Given the description of an element on the screen output the (x, y) to click on. 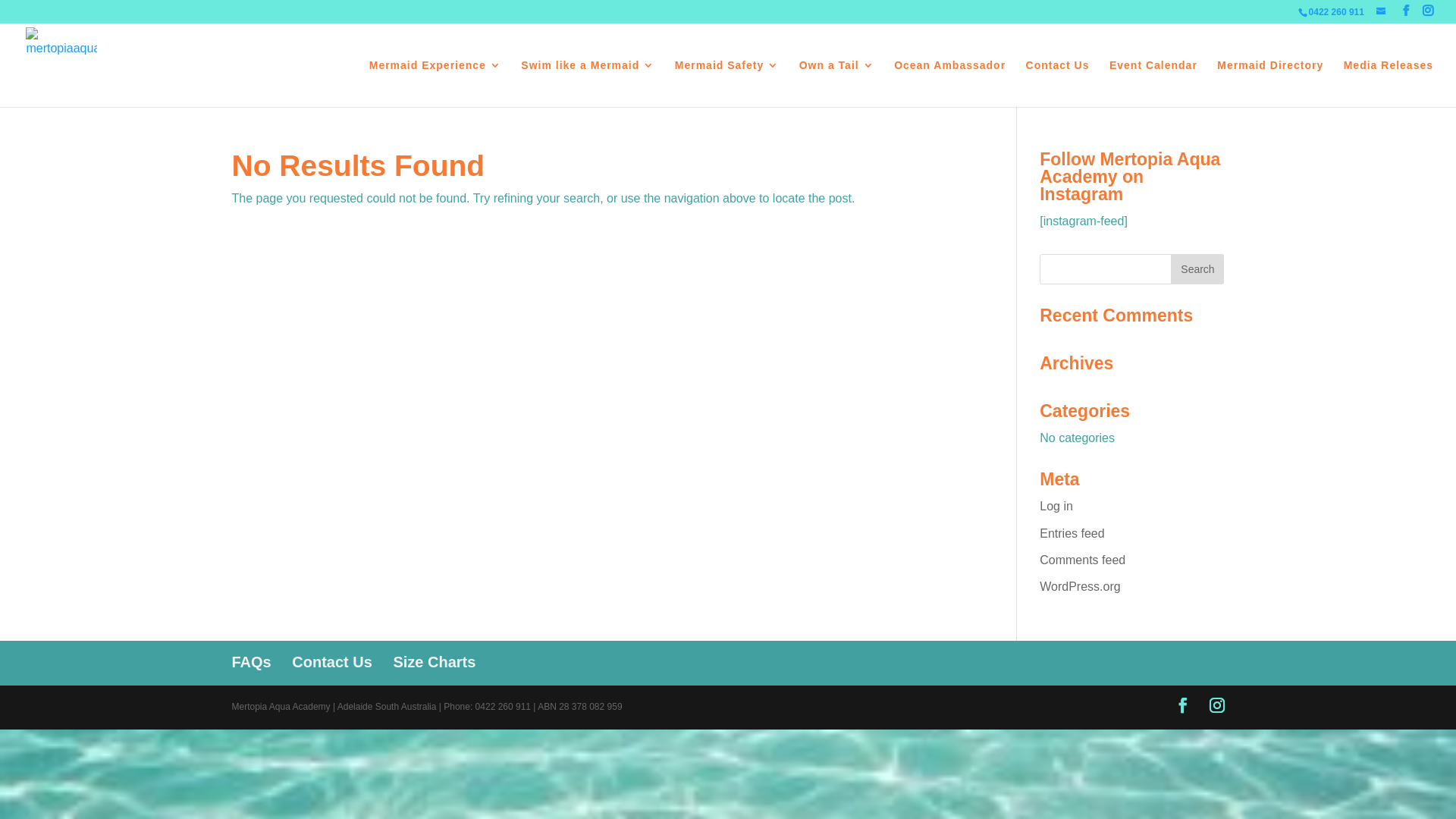
Event Calendar Element type: text (1153, 82)
Log in Element type: text (1056, 505)
Own a Tail Element type: text (836, 82)
Media Releases Element type: text (1388, 82)
Contact Us Element type: text (1057, 82)
Ocean Ambassador Element type: text (949, 82)
FAQs Element type: text (251, 661)
Mermaid Experience Element type: text (435, 82)
Contact Us Element type: text (331, 661)
Entries feed Element type: text (1071, 533)
Search Element type: text (1196, 269)
Swim like a Mermaid Element type: text (587, 82)
WordPress.org Element type: text (1079, 586)
Mermaid Directory Element type: text (1270, 82)
Mermaid Safety Element type: text (726, 82)
Size Charts Element type: text (433, 661)
Comments feed Element type: text (1082, 559)
